Given the description of an element on the screen output the (x, y) to click on. 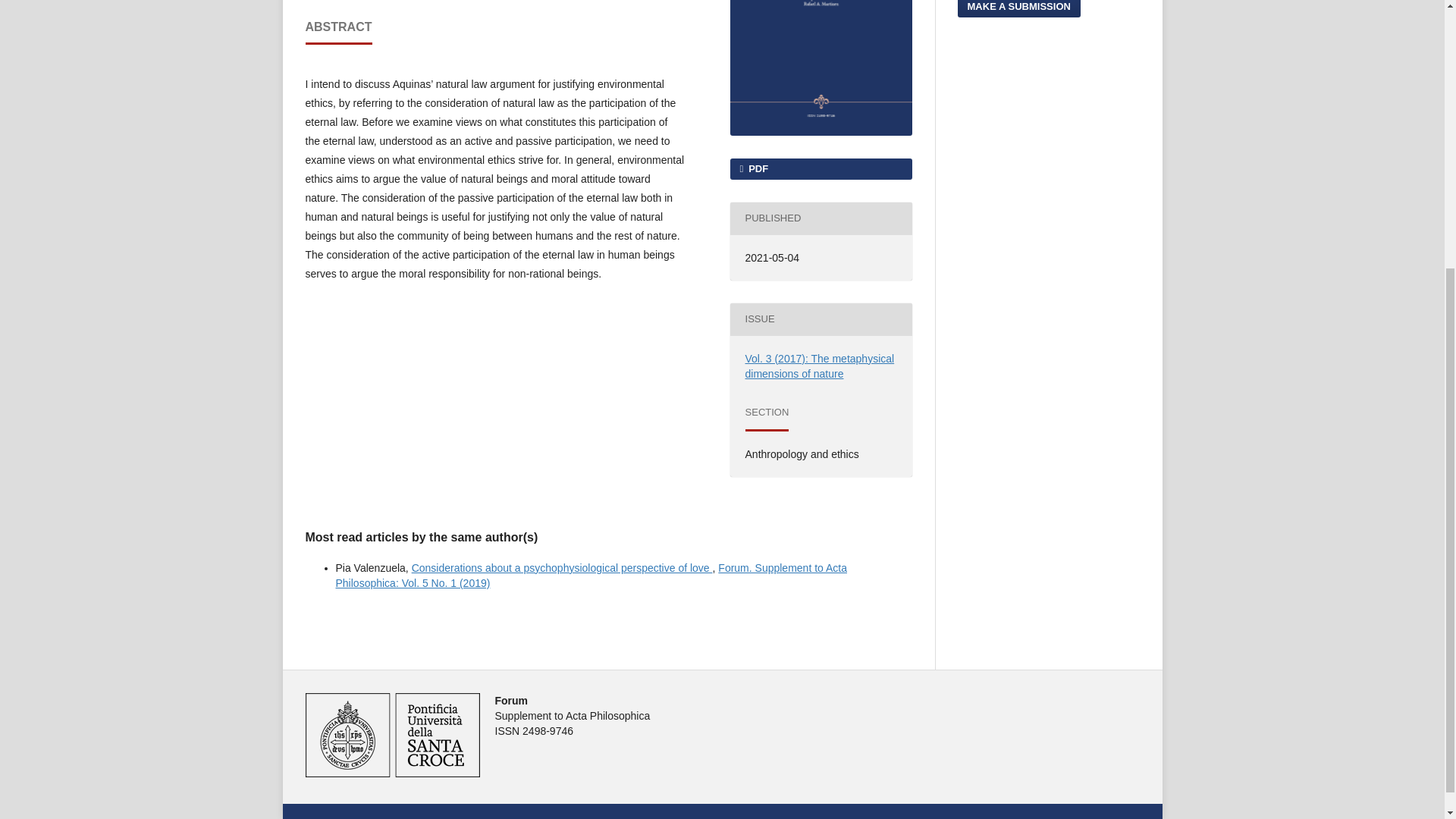
PDF (820, 168)
MAKE A SUBMISSION (1018, 8)
